Given the description of an element on the screen output the (x, y) to click on. 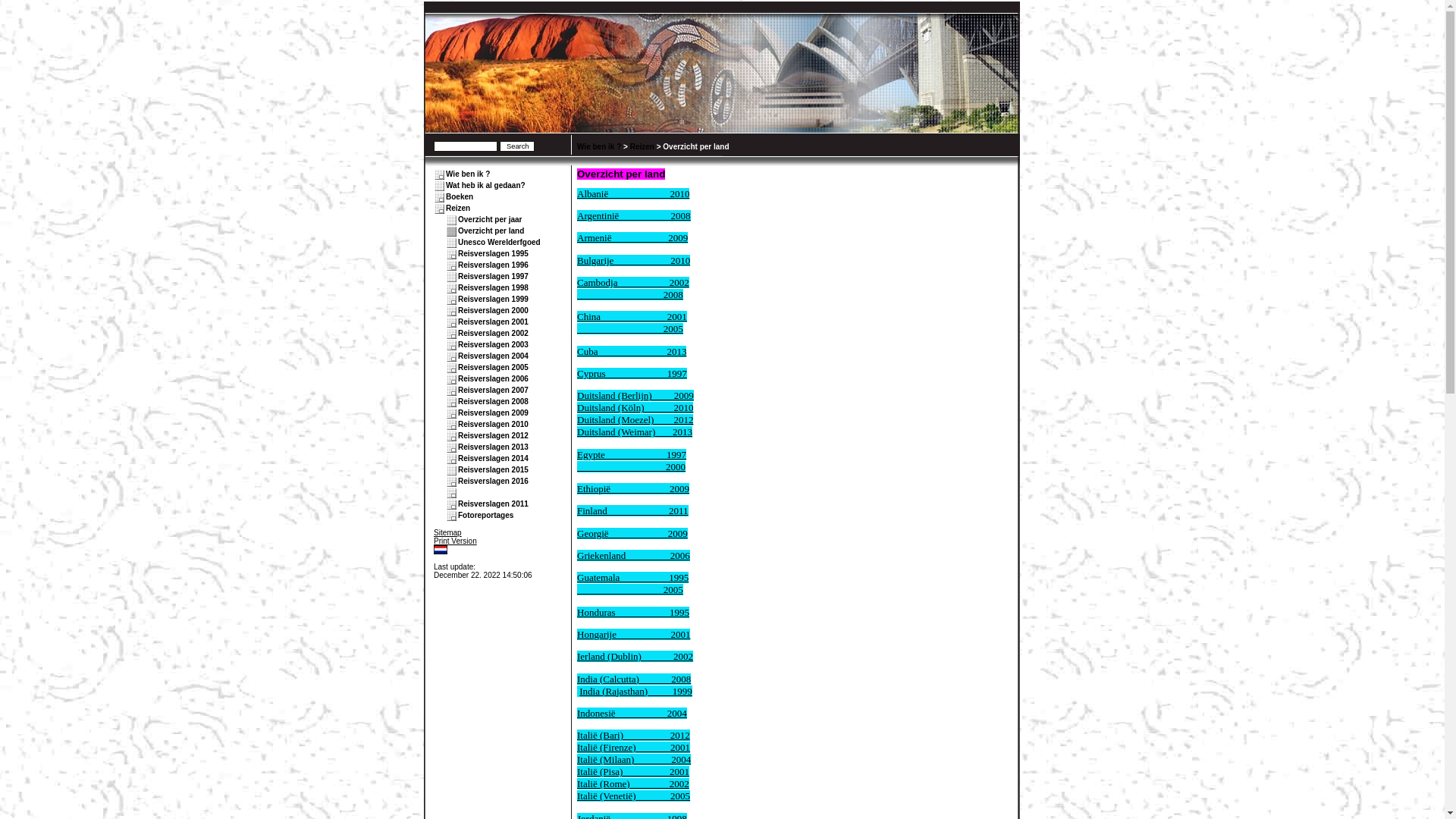
Login Element type: text (442, 558)
Reizen Element type: text (642, 146)
Duitsland (Weimar)       2013 Element type: text (634, 431)
Reisverslagen 2009 Element type: text (493, 412)
Reisverslagen 2004 Element type: text (493, 355)
Reisverslagen 1996 Element type: text (493, 264)
Reisverslagen 2003 Element type: text (493, 344)
China                           2001 Element type: text (632, 316)
                                   2005 Element type: text (630, 328)
Boeken Element type: text (459, 196)
Sitemap Element type: text (447, 532)
India (Rajasthan)          1999 Element type: text (635, 690)
Search Element type: text (516, 146)
Duitsland (Berlijn)         2009 Element type: text (635, 395)
Reisverslagen 2013 Element type: text (493, 446)
Guatemala                    1995 Element type: text (632, 577)
Reisverslagen 1999 Element type: text (493, 298)
                                    2000 Element type: text (631, 466)
Print Version Element type: text (454, 540)
Reisverslagen 2015 Element type: text (493, 469)
Unesco Werelderfgoed Element type: text (499, 242)
Reisverslagen 1995 Element type: text (493, 253)
Hongarije                      2001 Element type: text (633, 634)
Reisverslagen 2002 Element type: text (493, 333)
Cyprus                         1997 Element type: text (632, 373)
India (Calcutta)             2008 Element type: text (633, 678)
Reisverslagen 2000 Element type: text (493, 310)
Overzicht per jaar Element type: text (489, 219)
Reisverslagen 2010 Element type: text (493, 424)
Cuba                            2013 Element type: text (631, 351)
Reisverslagen 2014 Element type: text (493, 458)
Reizen Element type: text (457, 207)
Griekenland                  2006 Element type: text (633, 555)
Egypte                         1997 Element type: text (631, 454)
Reisverslagen 2012 Element type: text (493, 435)
  Element type: text (459, 492)
Ierland (Dublin)             2002 Element type: text (635, 656)
Reisverslagen 1997 Element type: text (493, 276)
Reisverslagen 2006 Element type: text (493, 378)
Fotoreportages Element type: text (485, 515)
Reisverslagen 2016 Element type: text (493, 480)
                                   2005 Element type: text (630, 589)
Duitsland (Moezel)        2012 Element type: text (635, 419)
Cambodja                     2002 Element type: text (633, 282)
Reisverslagen 2001 Element type: text (493, 321)
Reisverslagen 2011 Element type: text (493, 503)
Finland                         2011 Element type: text (632, 510)
Reisverslagen 2005 Element type: text (493, 367)
Reisverslagen 2007 Element type: text (493, 389)
Bulgarije                       2010 Element type: text (633, 260)
Wie ben ik ? Element type: text (599, 146)
Honduras                      1995 Element type: text (633, 612)
Reisverslagen 2008 Element type: text (493, 401)
Reisverslagen 1998 Element type: text (493, 287)
Wat heb ik al gedaan? Element type: text (485, 185)
                                   2008 Element type: text (630, 294)
Wie ben ik ? Element type: text (467, 173)
